Given the description of an element on the screen output the (x, y) to click on. 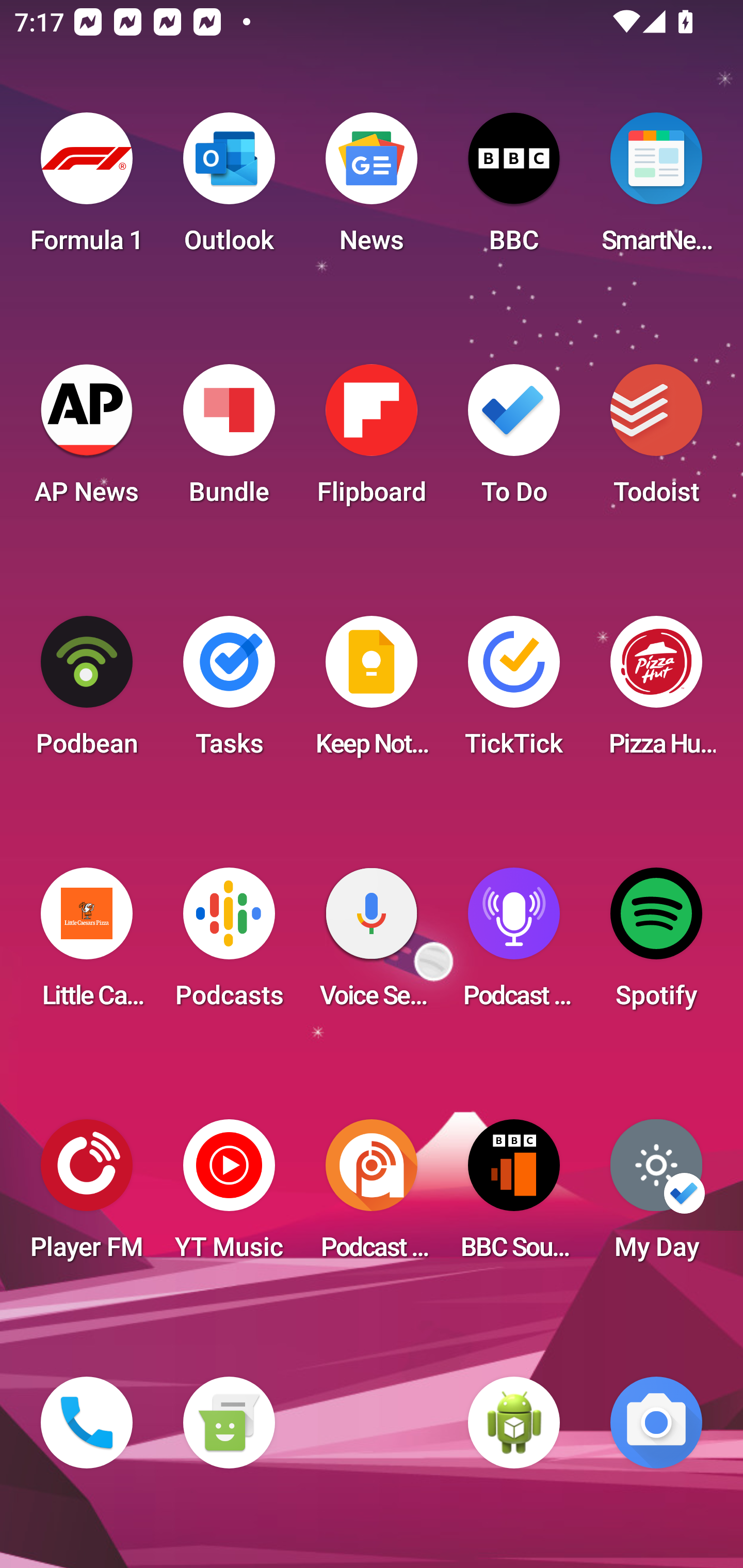
Formula 1 (86, 188)
Outlook (228, 188)
News (371, 188)
BBC (513, 188)
SmartNews (656, 188)
AP News (86, 440)
Bundle (228, 440)
Flipboard (371, 440)
To Do (513, 440)
Todoist (656, 440)
Podbean (86, 692)
Tasks (228, 692)
Keep Notes (371, 692)
TickTick (513, 692)
Pizza Hut HK & Macau (656, 692)
Little Caesars Pizza (86, 943)
Podcasts (228, 943)
Voice Search (371, 943)
Podcast Player (513, 943)
Spotify (656, 943)
Player FM (86, 1195)
YT Music (228, 1195)
Podcast Addict (371, 1195)
BBC Sounds (513, 1195)
My Day (656, 1195)
Phone (86, 1422)
Messaging (228, 1422)
WebView Browser Tester (513, 1422)
Camera (656, 1422)
